Given the description of an element on the screen output the (x, y) to click on. 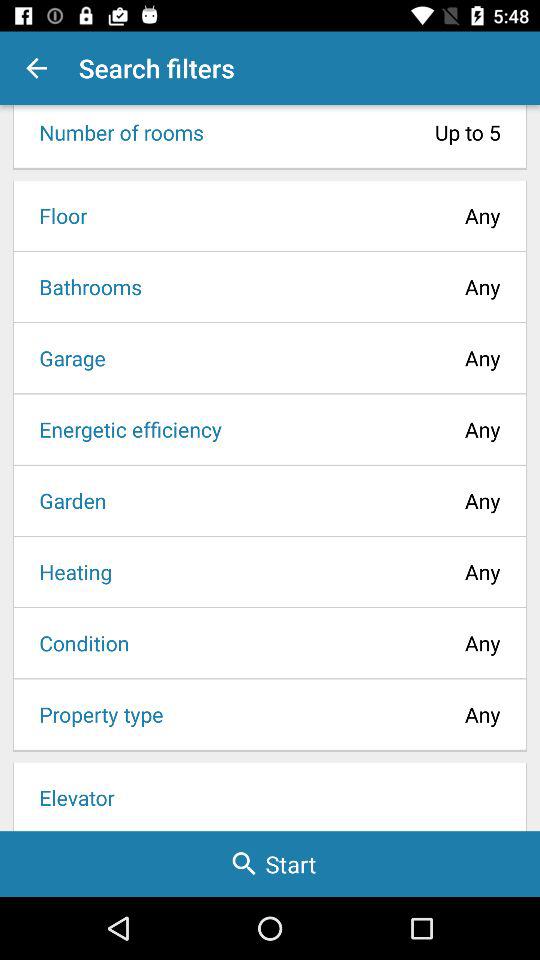
turn off item to the left of the up to 5 item (115, 132)
